Given the description of an element on the screen output the (x, y) to click on. 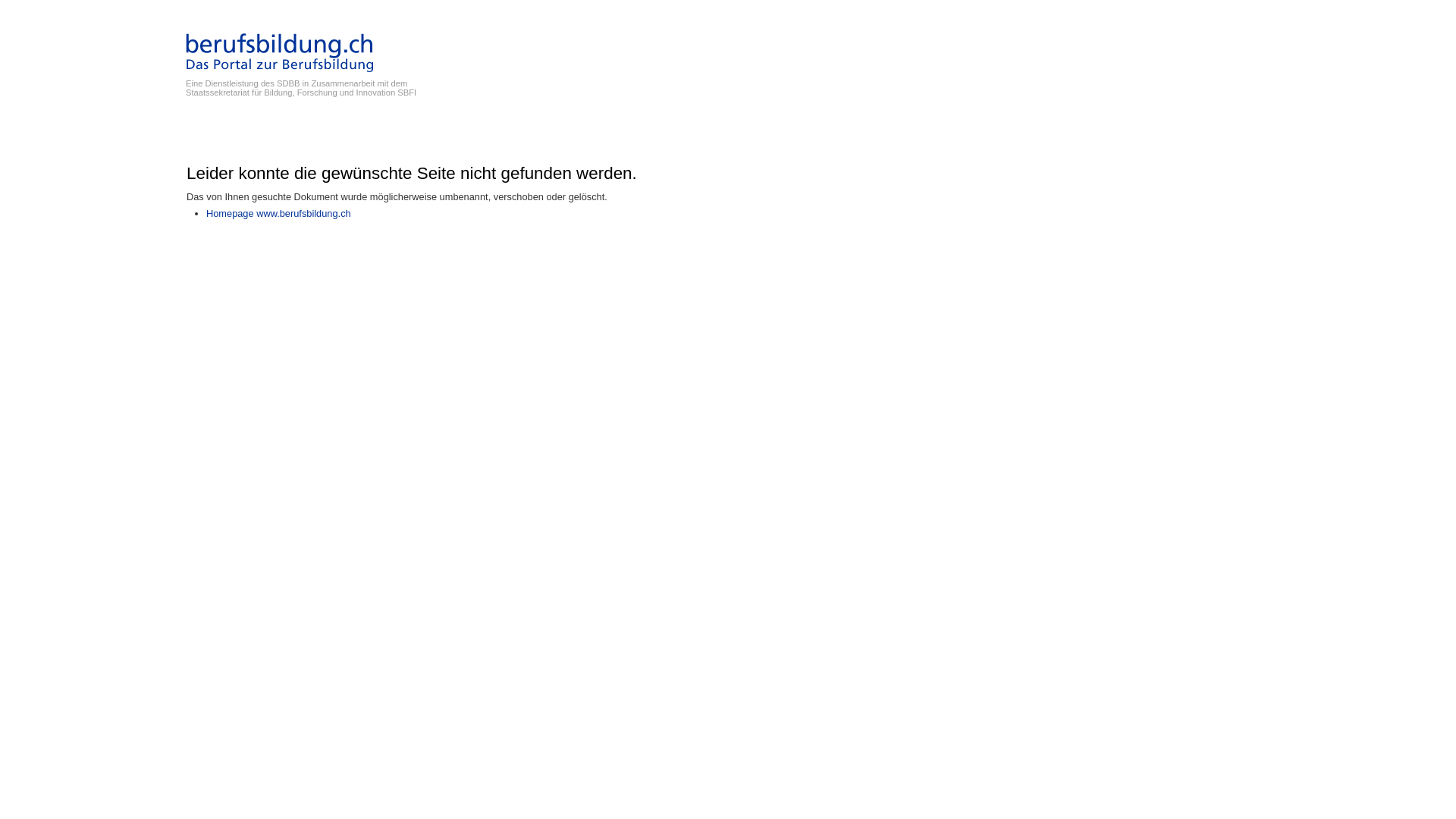
Homepage www.berufsbildung.ch Element type: text (278, 213)
